Given the description of an element on the screen output the (x, y) to click on. 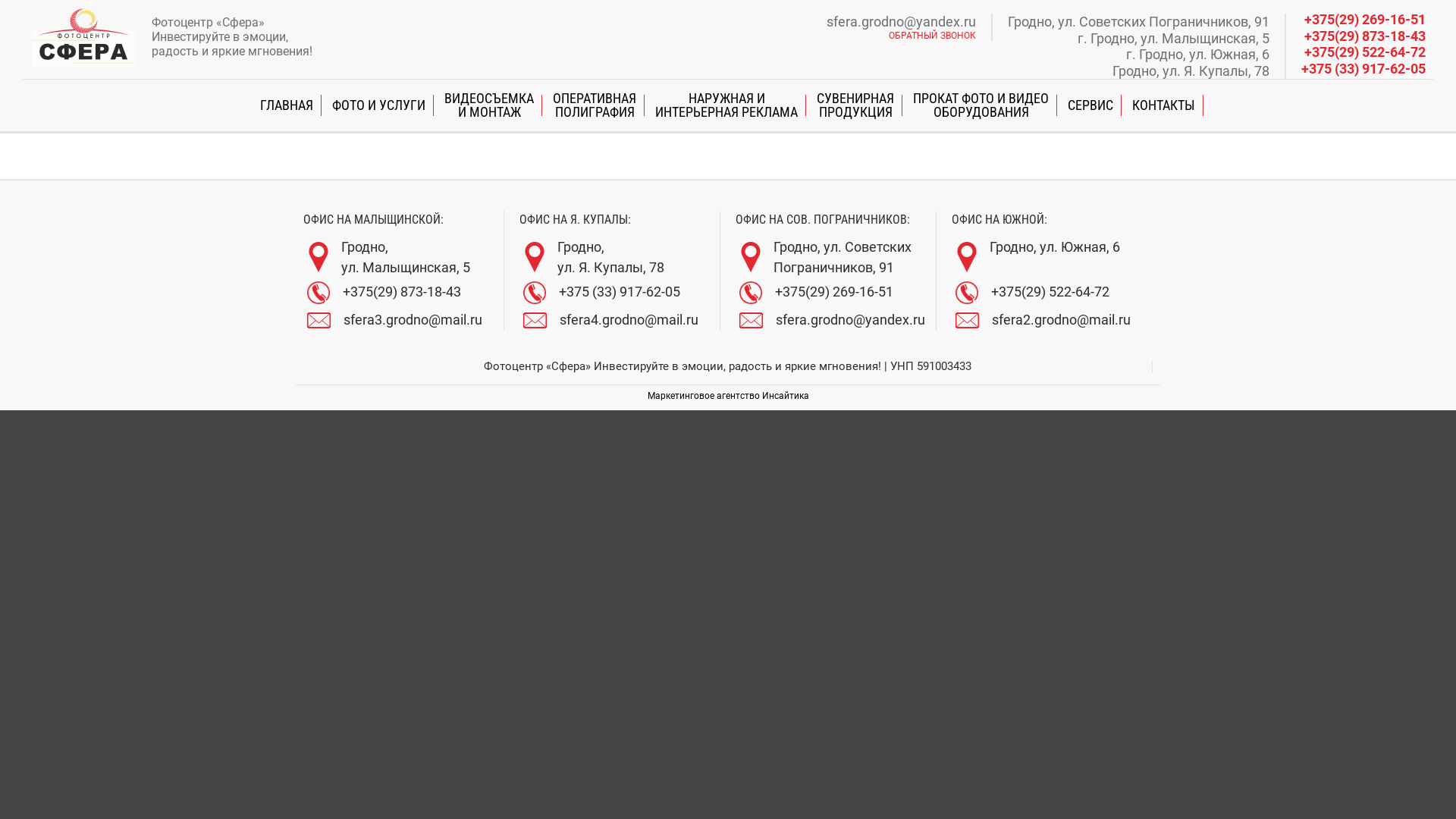
sfera.grodno@yandex.ru Element type: text (900, 21)
